Given the description of an element on the screen output the (x, y) to click on. 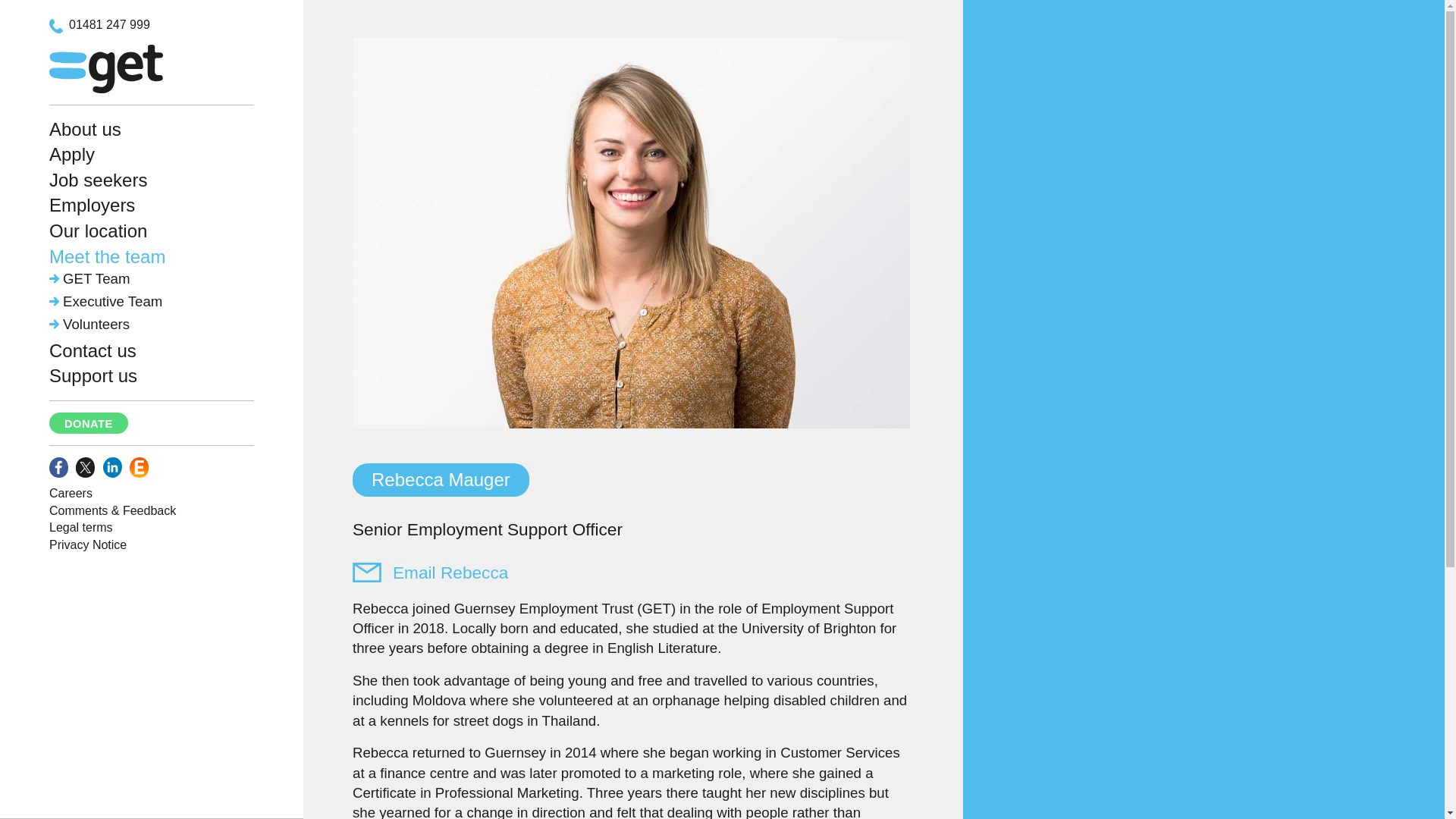
DONATE (88, 423)
01481 247 999 (102, 24)
Employers (92, 204)
GET Team (89, 278)
Meet the team (107, 256)
Support us (92, 375)
Contact us (92, 350)
Apply (71, 154)
Careers (71, 492)
Email Rebecca (430, 572)
